Given the description of an element on the screen output the (x, y) to click on. 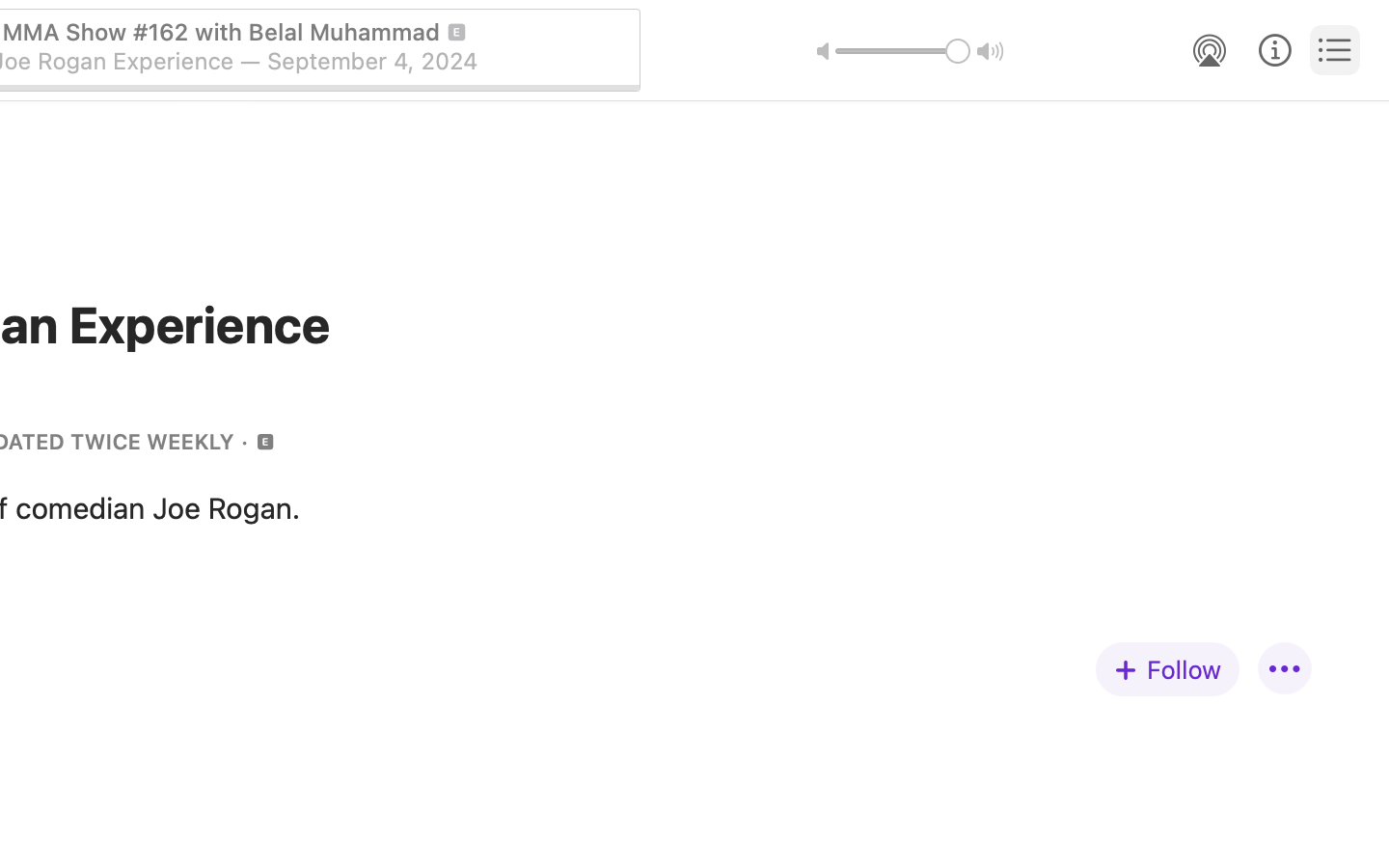
1.0 Element type: AXSlider (902, 50)
